Given the description of an element on the screen output the (x, y) to click on. 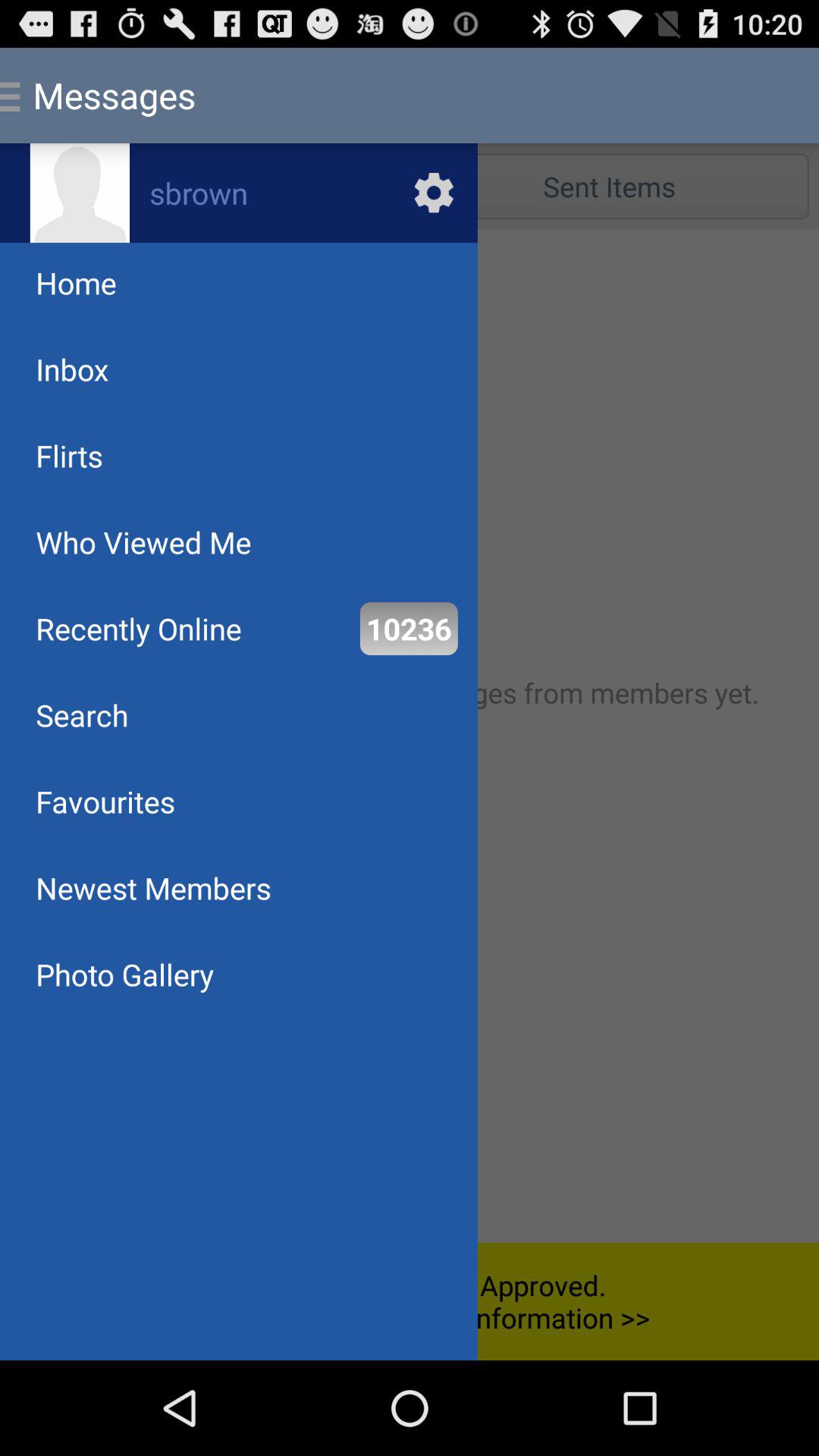
tap item next to the recently online (408, 628)
